Given the description of an element on the screen output the (x, y) to click on. 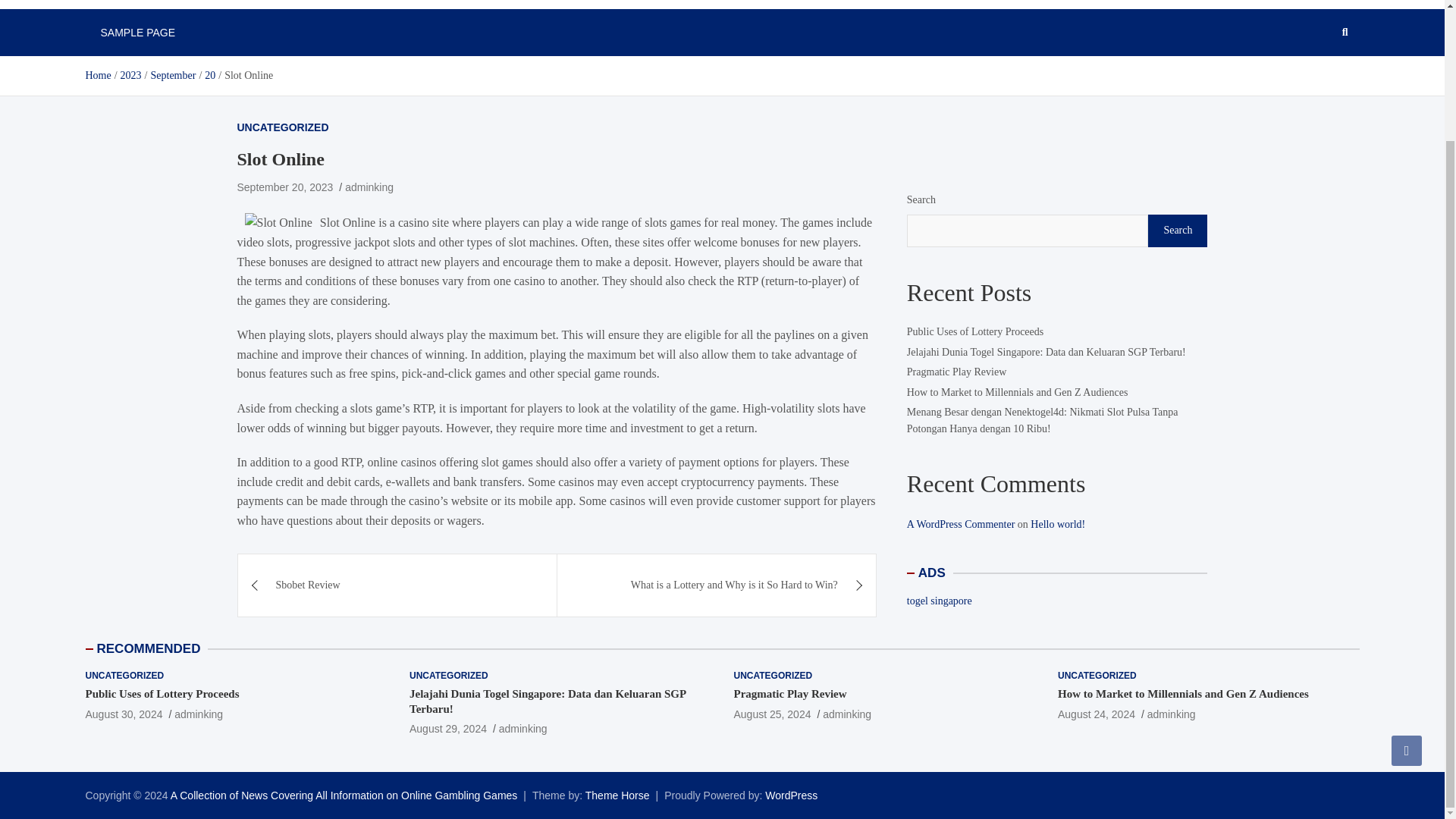
UNCATEGORIZED (448, 676)
WordPress (790, 795)
adminking (369, 186)
togel singapore (939, 600)
Search (1177, 230)
A WordPress Commenter (960, 523)
UNCATEGORIZED (123, 676)
September (172, 75)
